Given the description of an element on the screen output the (x, y) to click on. 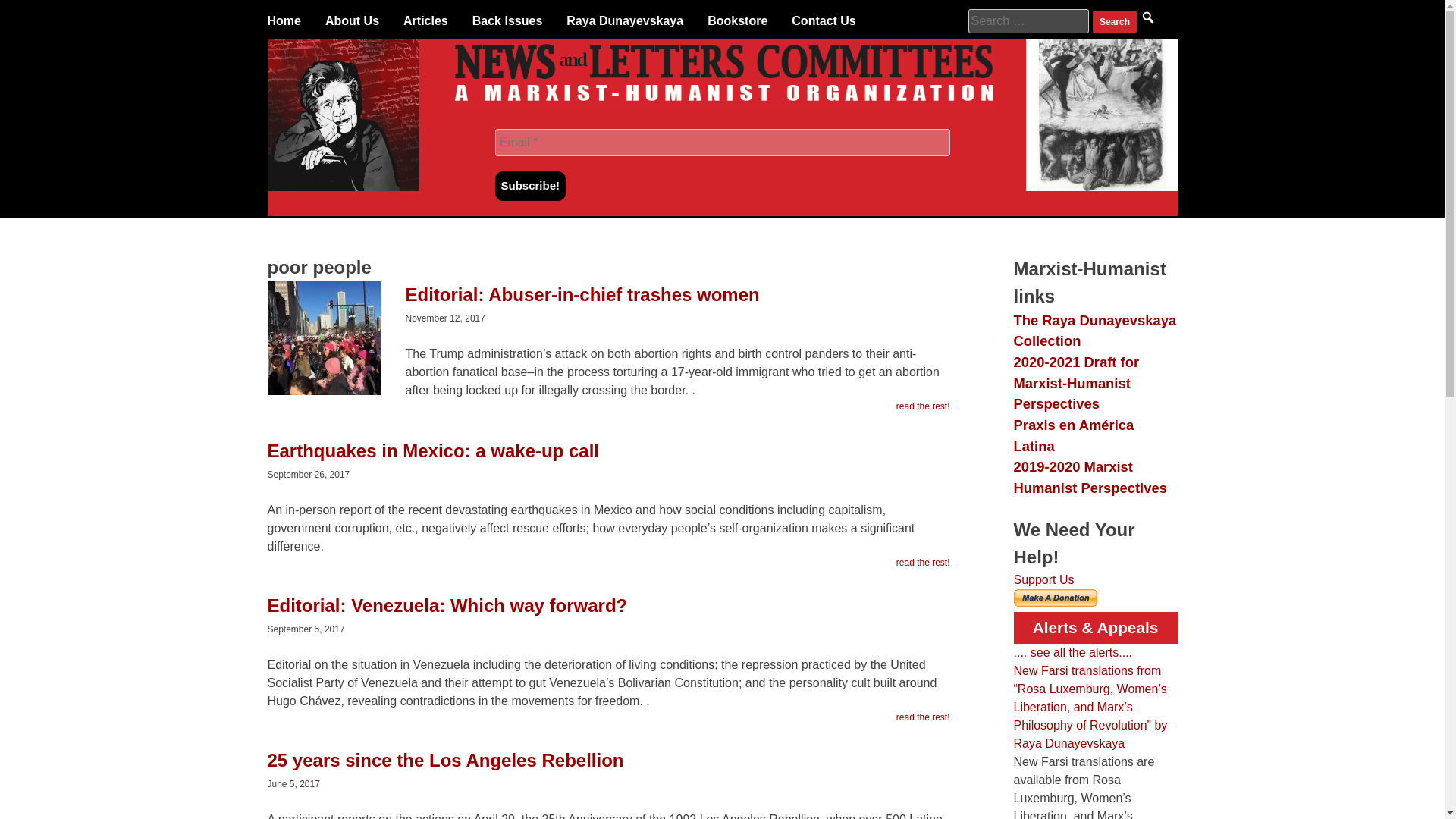
The Raya Dunayevskaya Collection (1094, 330)
2020-2021 Draft for Marxist-Humanist Perspectives (1075, 382)
About Us (351, 21)
Articles (425, 21)
2019-2020 Marxist Humanist Perspectives (1089, 477)
Home (282, 21)
Contact Us (824, 21)
Raya Dunayevskaya (624, 21)
Email (722, 142)
News and Letters Committees (722, 103)
Search (1115, 21)
Support Us (1043, 579)
read the rest! (923, 716)
25 years since the Los Angeles Rebellion (607, 767)
